Given the description of an element on the screen output the (x, y) to click on. 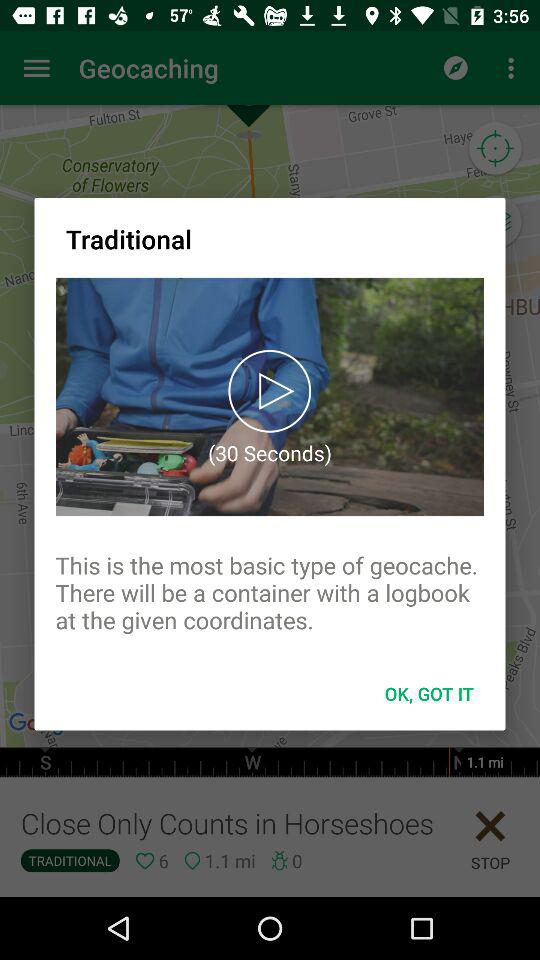
launch item below the this is the item (429, 693)
